Given the description of an element on the screen output the (x, y) to click on. 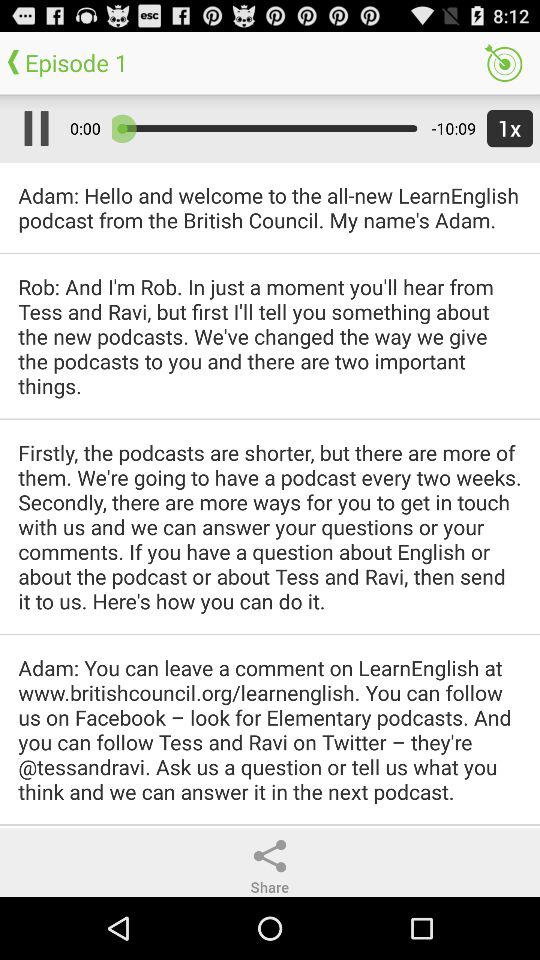
click on 1x which is beside 1009 (506, 127)
go to green image right to episode 1 (503, 63)
